Given the description of an element on the screen output the (x, y) to click on. 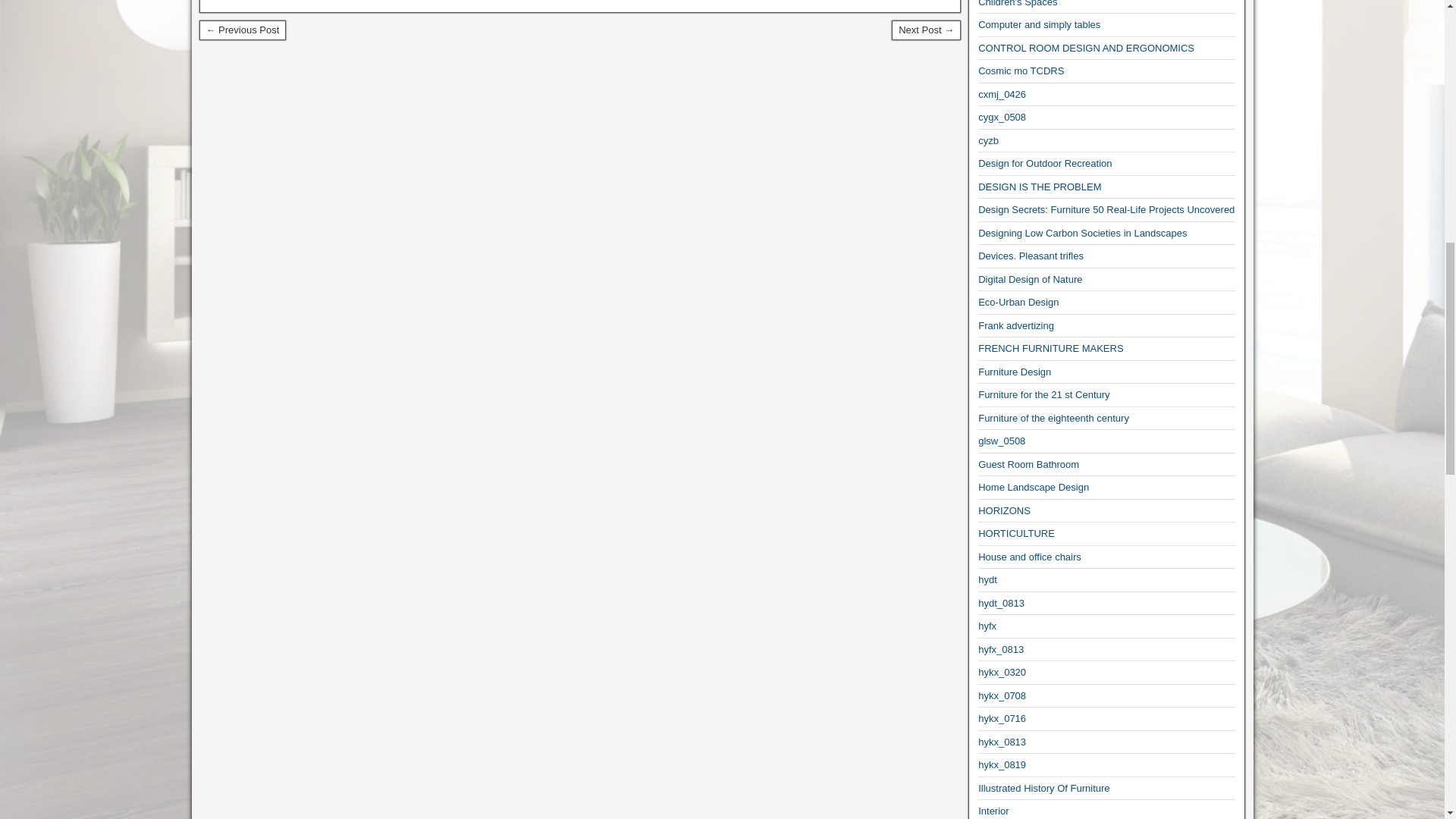
Design Secrets: Furniture 50 Real-Life Projects Uncovered (1106, 209)
Devices. Pleasant trifles (1030, 255)
CONTROL ROOM DESIGN AND ERGONOMICS (1085, 48)
cyzb (988, 140)
Lanchid 19 (241, 30)
IMPLEMENTATION (925, 30)
DESIGN IS THE PROBLEM (1039, 186)
Cosmic mo TCDRS (1021, 70)
Computer and simply tables (1039, 24)
Digital Design of Nature (1029, 279)
